Given the description of an element on the screen output the (x, y) to click on. 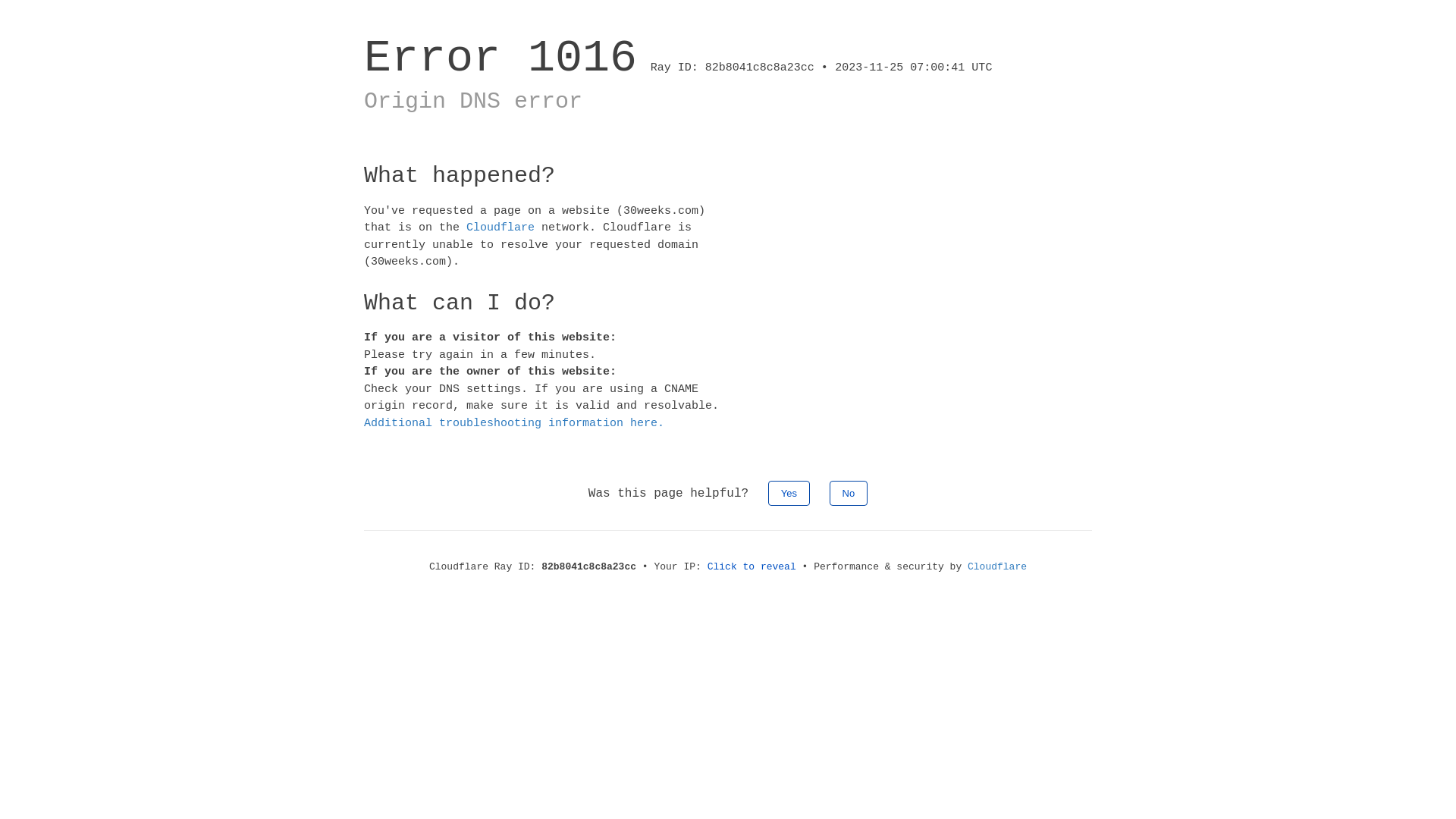
Additional troubleshooting information here. Element type: text (514, 423)
No Element type: text (848, 492)
Cloudflare Element type: text (500, 227)
Cloudflare Element type: text (996, 566)
Yes Element type: text (788, 492)
Click to reveal Element type: text (751, 566)
